Given the description of an element on the screen output the (x, y) to click on. 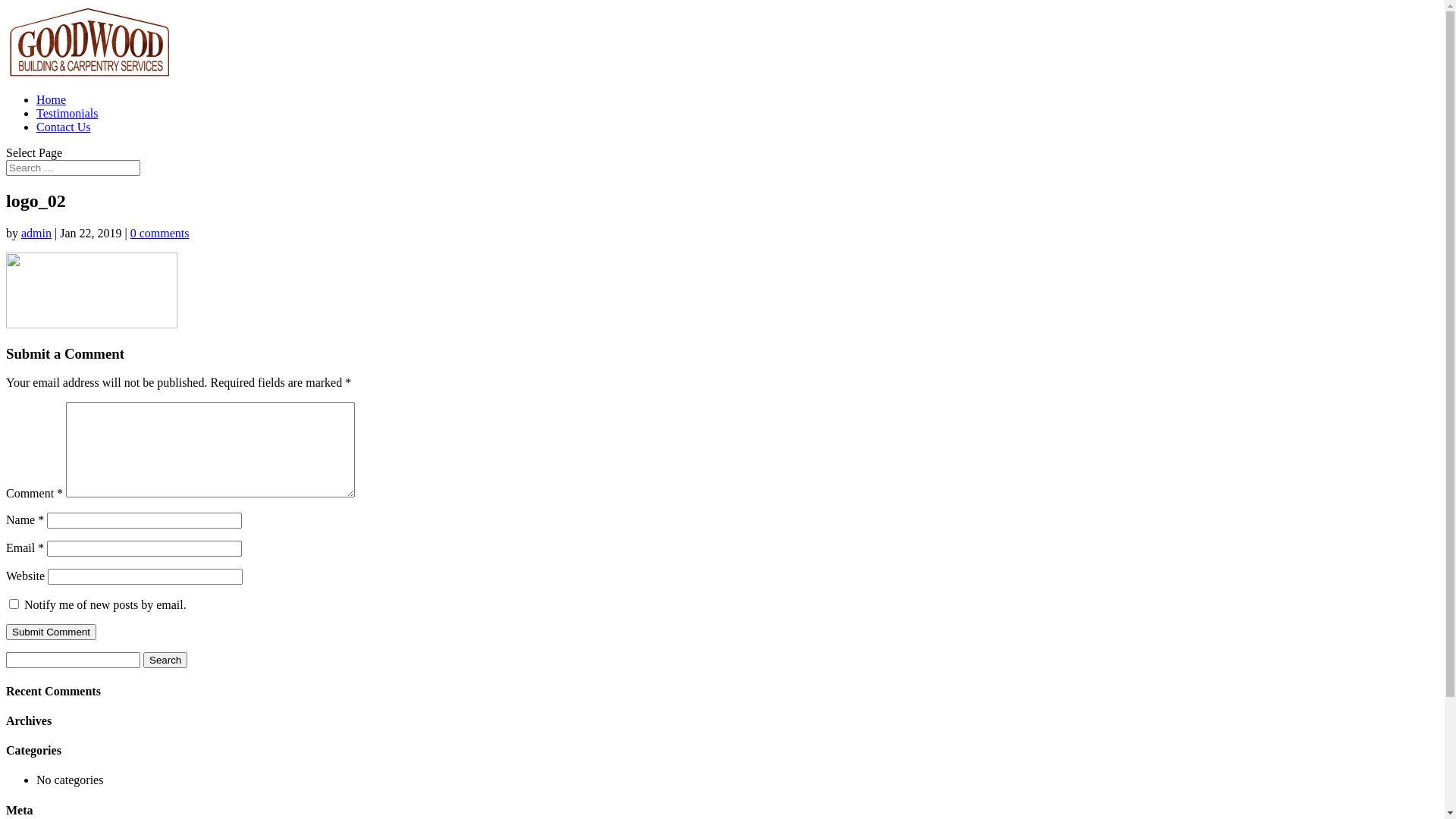
Search for: Element type: hover (73, 167)
Contact Us Element type: text (63, 126)
admin Element type: text (36, 232)
Search Element type: text (165, 660)
Home Element type: text (50, 99)
0 comments Element type: text (159, 232)
Testimonials Element type: text (67, 112)
Submit Comment Element type: text (51, 632)
